Given the description of an element on the screen output the (x, y) to click on. 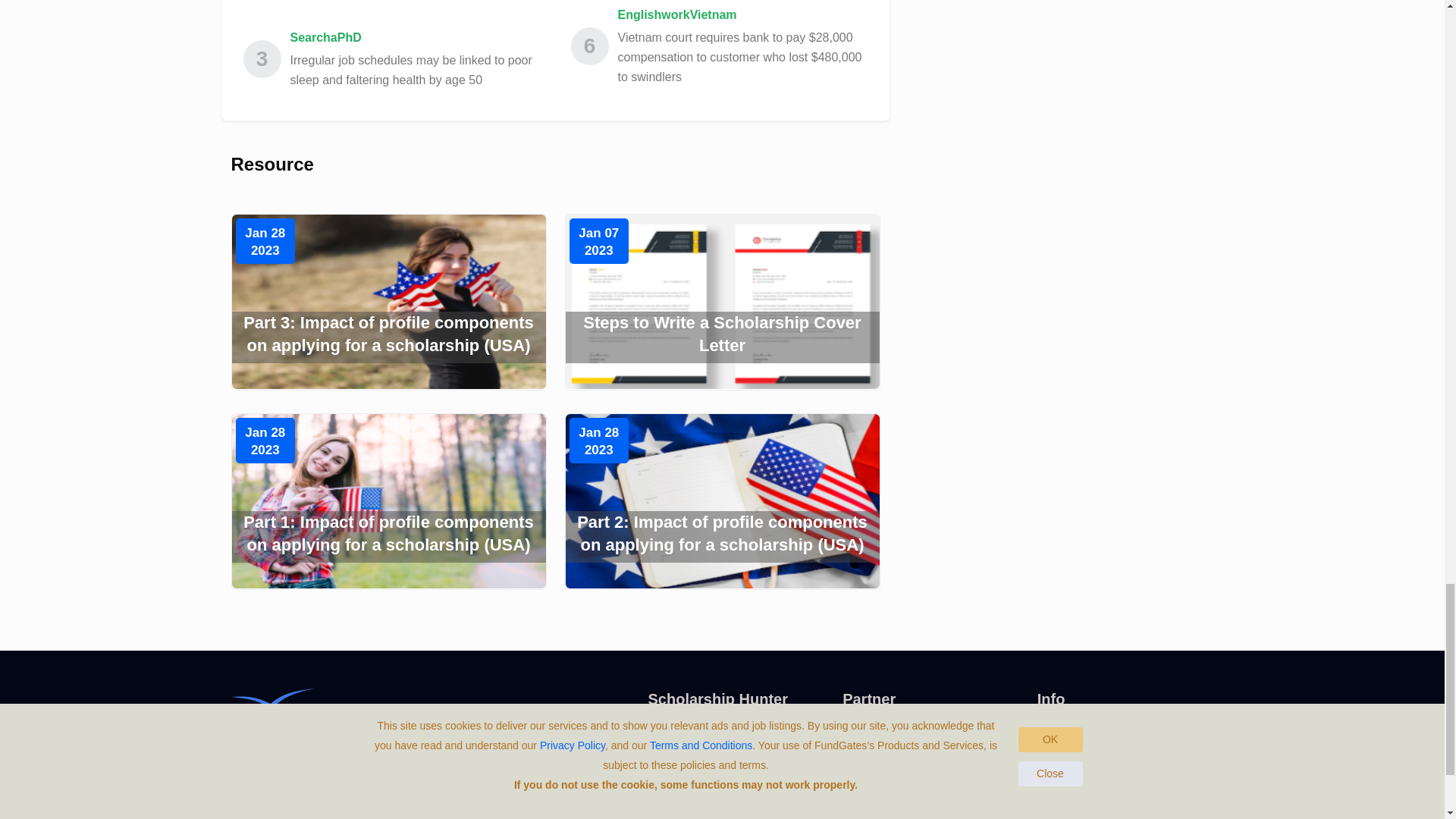
EnglishworkVietnam (742, 14)
SearchaPhD (414, 37)
